Given the description of an element on the screen output the (x, y) to click on. 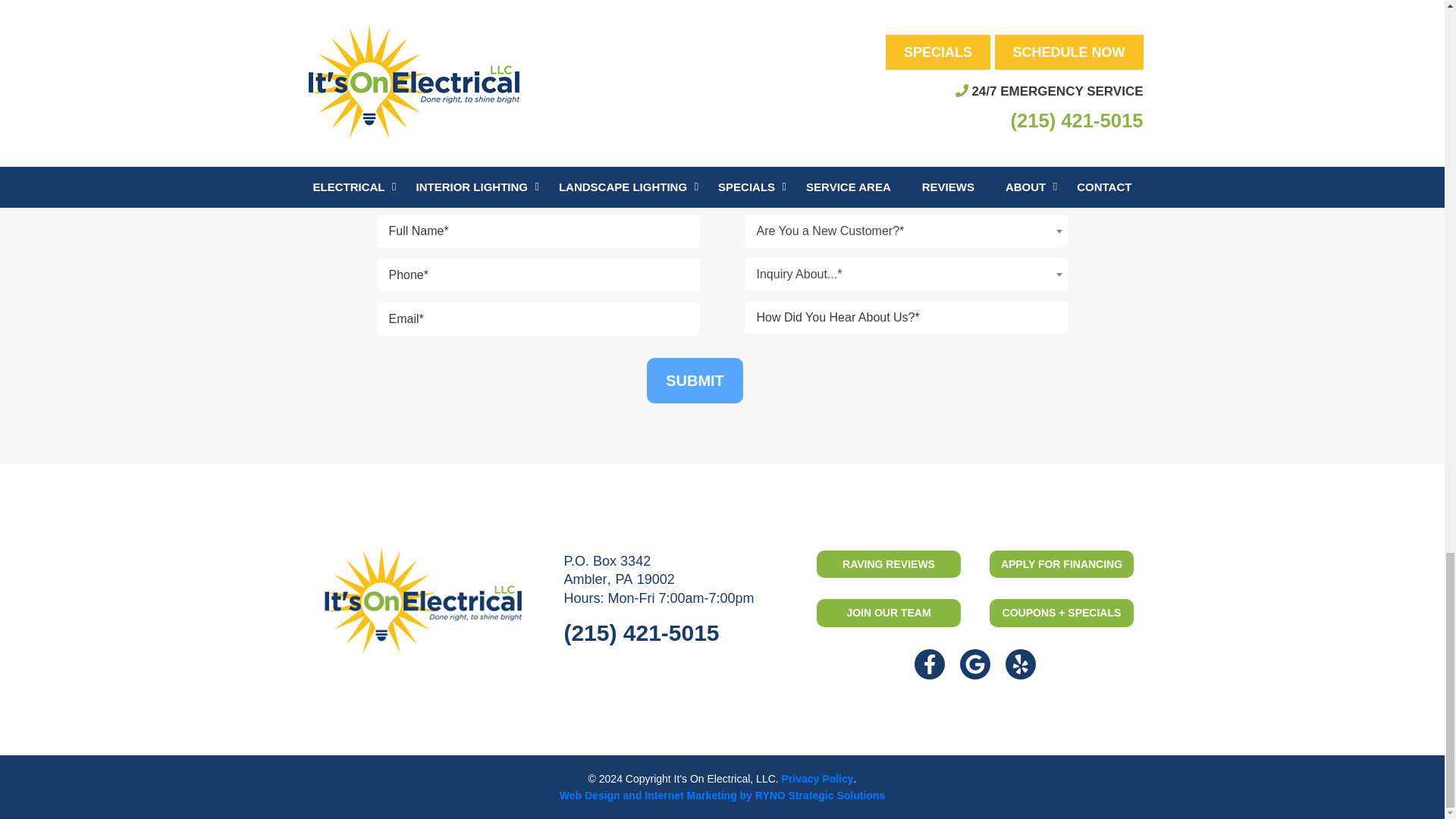
Submit (694, 380)
